Given the description of an element on the screen output the (x, y) to click on. 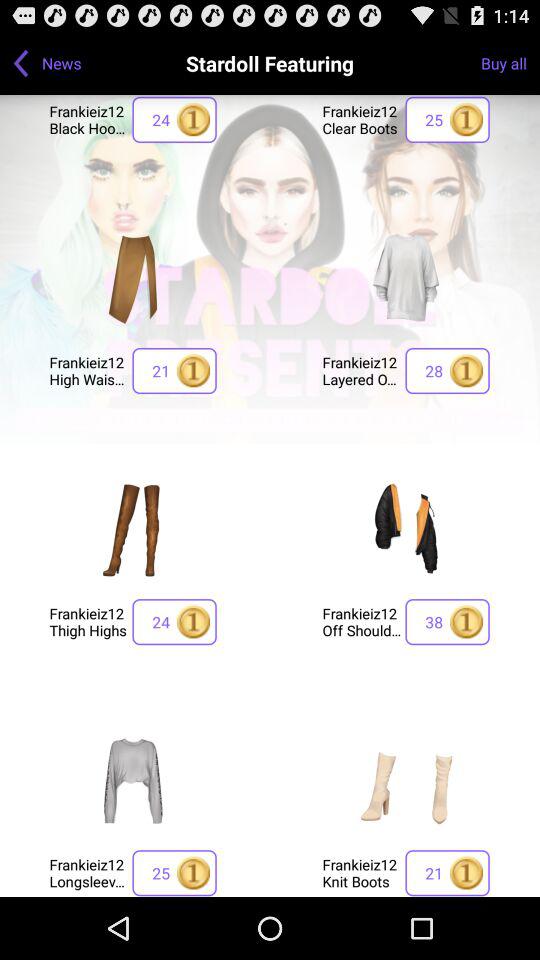
click the app below the news (88, 118)
